Given the description of an element on the screen output the (x, y) to click on. 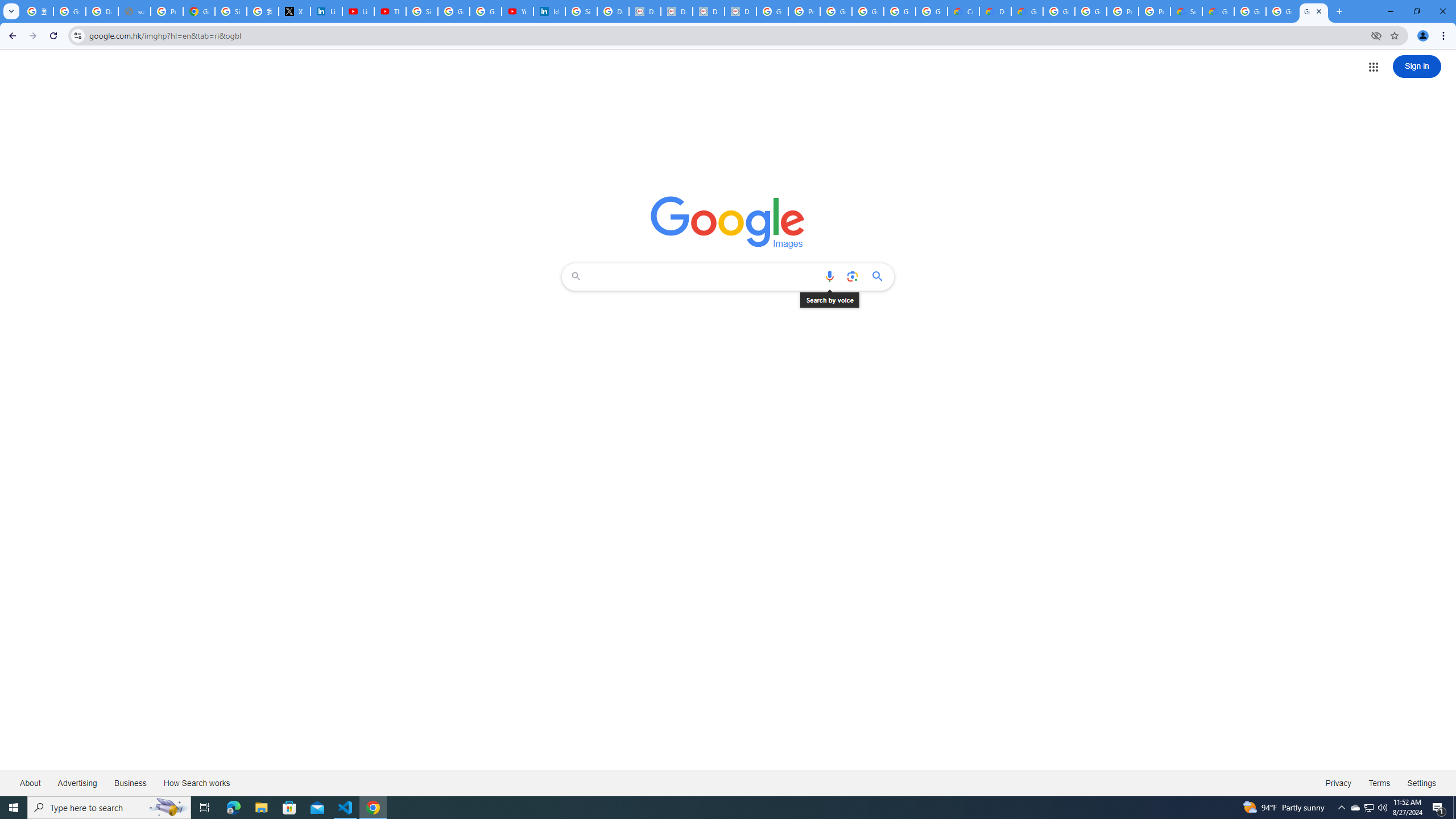
LinkedIn Privacy Policy (326, 11)
Google Cloud Service Health (1217, 11)
Data Privacy Framework (644, 11)
Google Images (727, 222)
Customer Care | Google Cloud (963, 11)
Settings (1421, 782)
LinkedIn - YouTube (358, 11)
Privacy (1337, 782)
Google Cloud Platform (1281, 11)
Google Workspace - Specific Terms (931, 11)
